Given the description of an element on the screen output the (x, y) to click on. 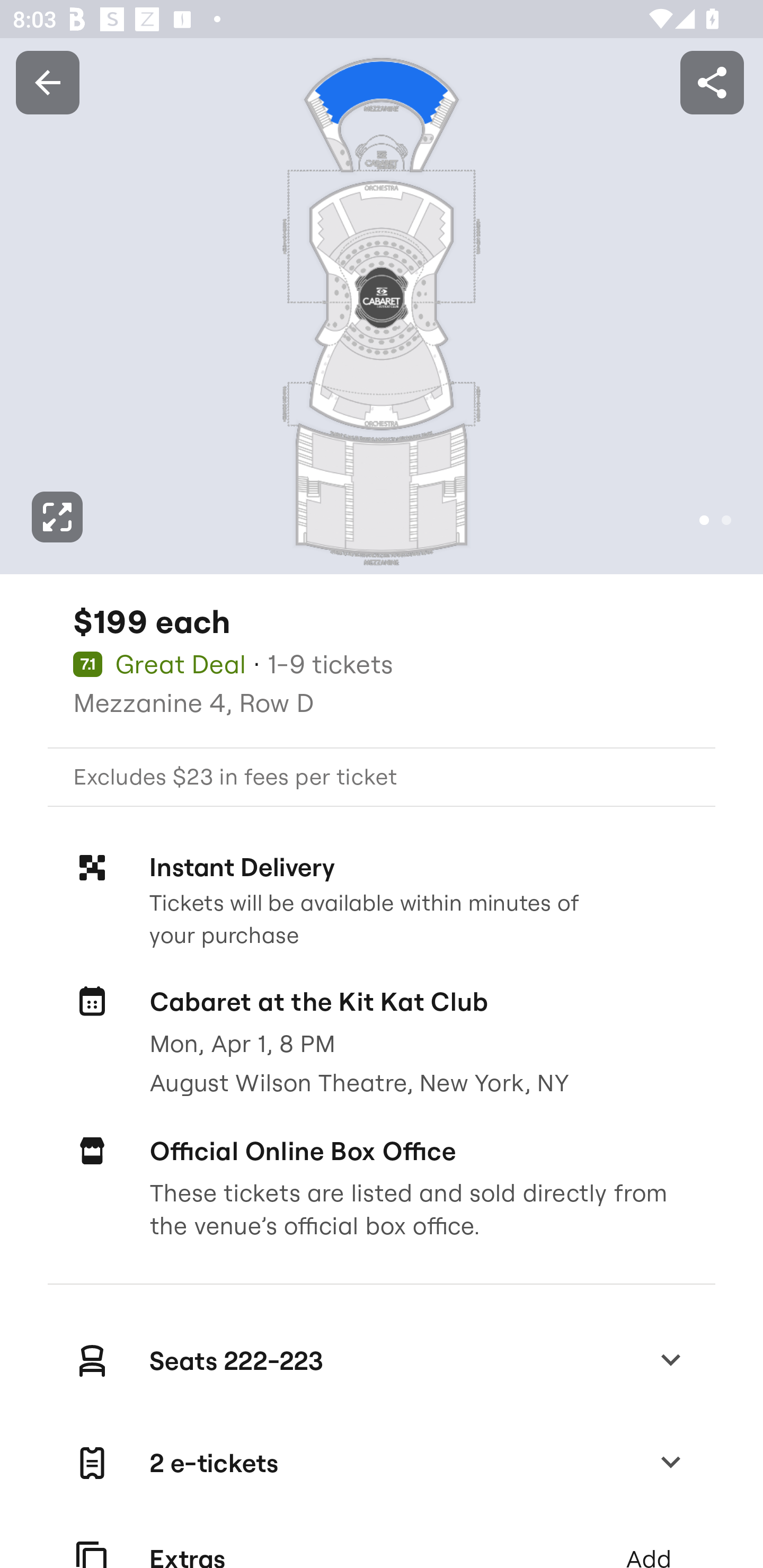
Back (47, 81)
Share (711, 81)
Expand image to fullscreen (57, 517)
Seats 222-223 Expand to show options (381, 1360)
2 e-tickets Expand to show options (381, 1463)
Extras Add (381, 1541)
